Given the description of an element on the screen output the (x, y) to click on. 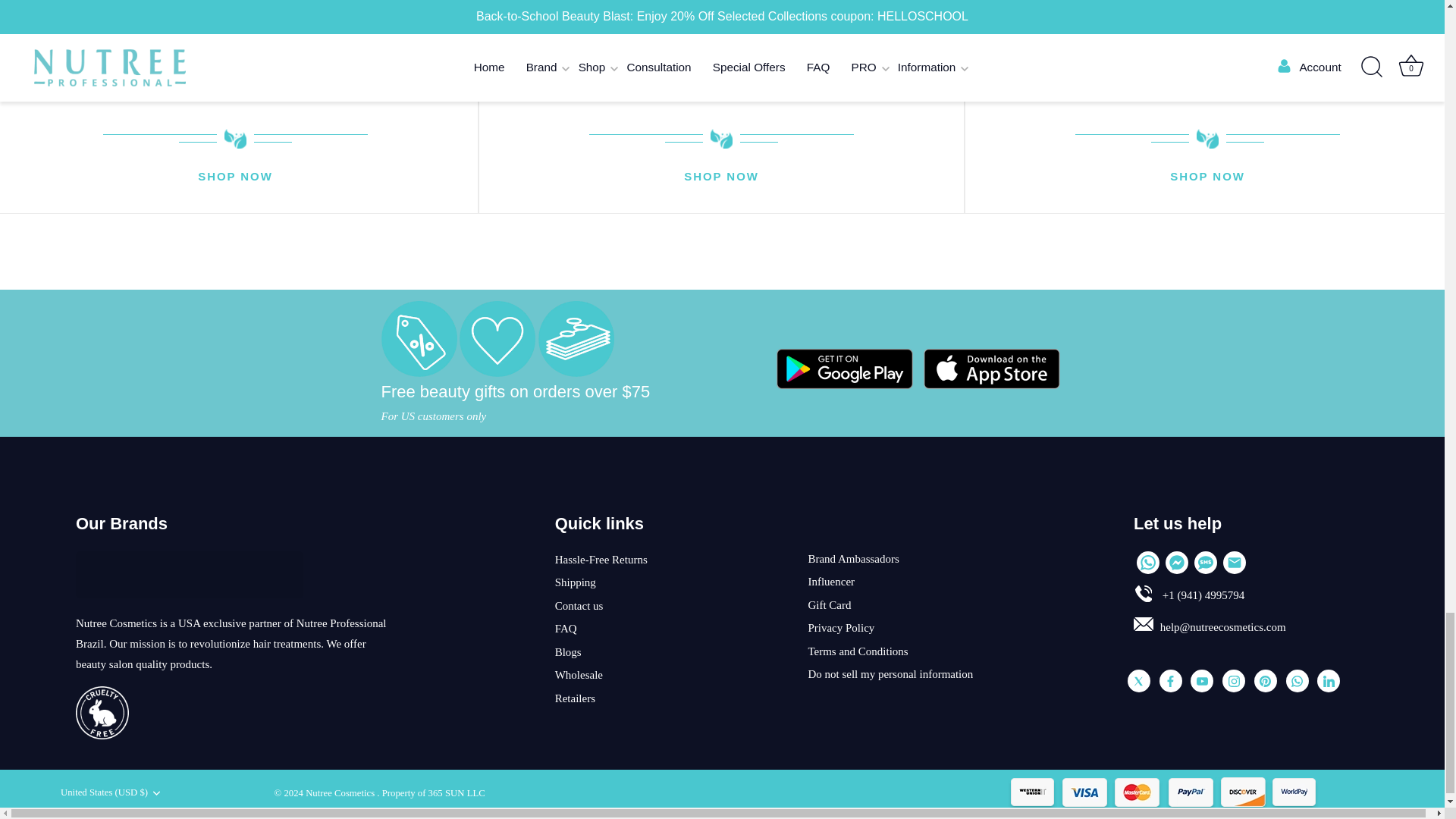
Shop Now (721, 177)
Shop Now (1207, 177)
Shop Now (234, 177)
